Given the description of an element on the screen output the (x, y) to click on. 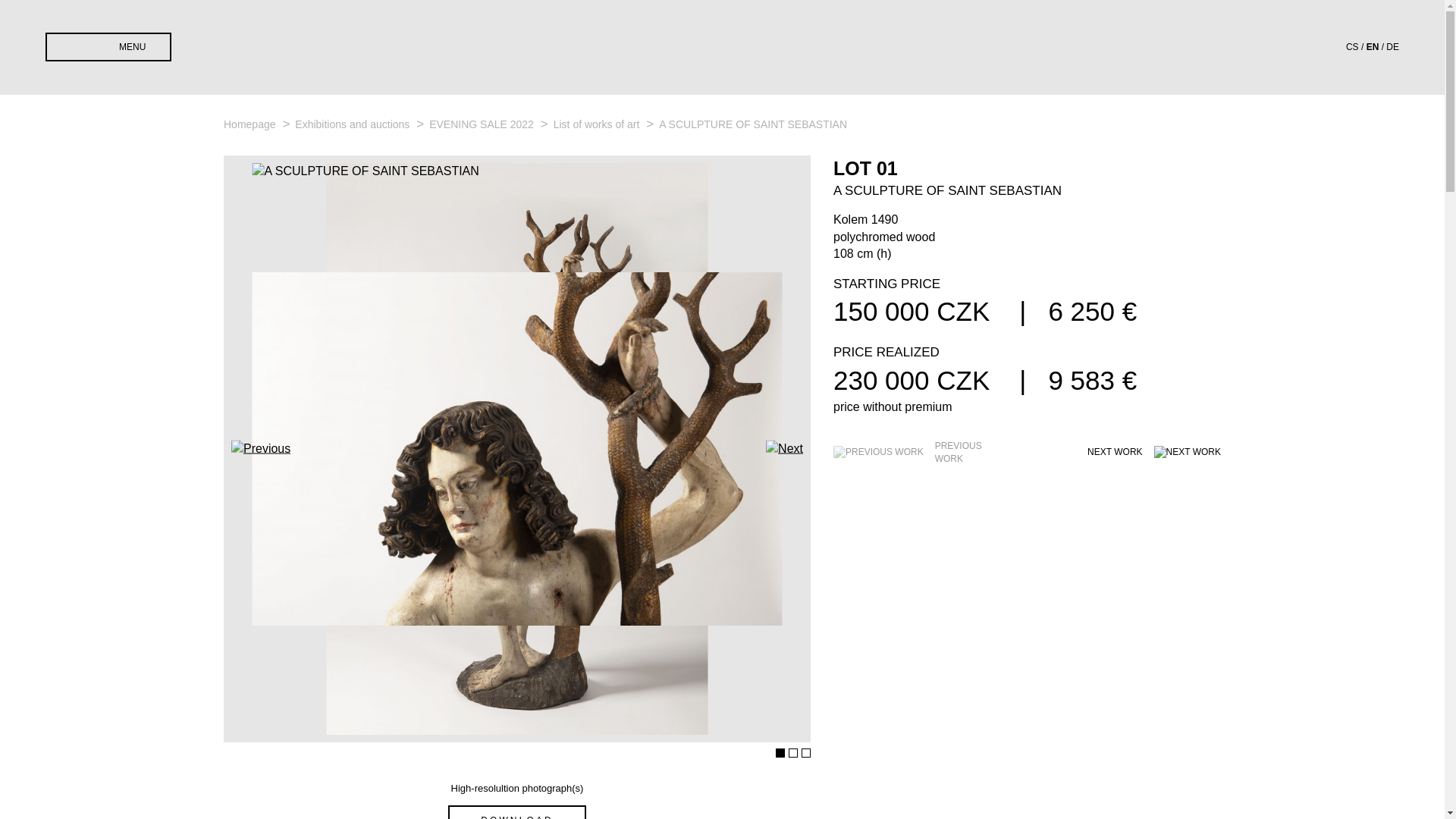
MENU (108, 47)
A SCULPTURE OF SAINT SEBASTIAN (753, 123)
Exhibitions and auctions (353, 123)
Homepage (251, 123)
EN (1372, 46)
PREVIOUS WORK (913, 452)
List of works of art (597, 123)
EVENING SALE 2022 (483, 123)
